Given the description of an element on the screen output the (x, y) to click on. 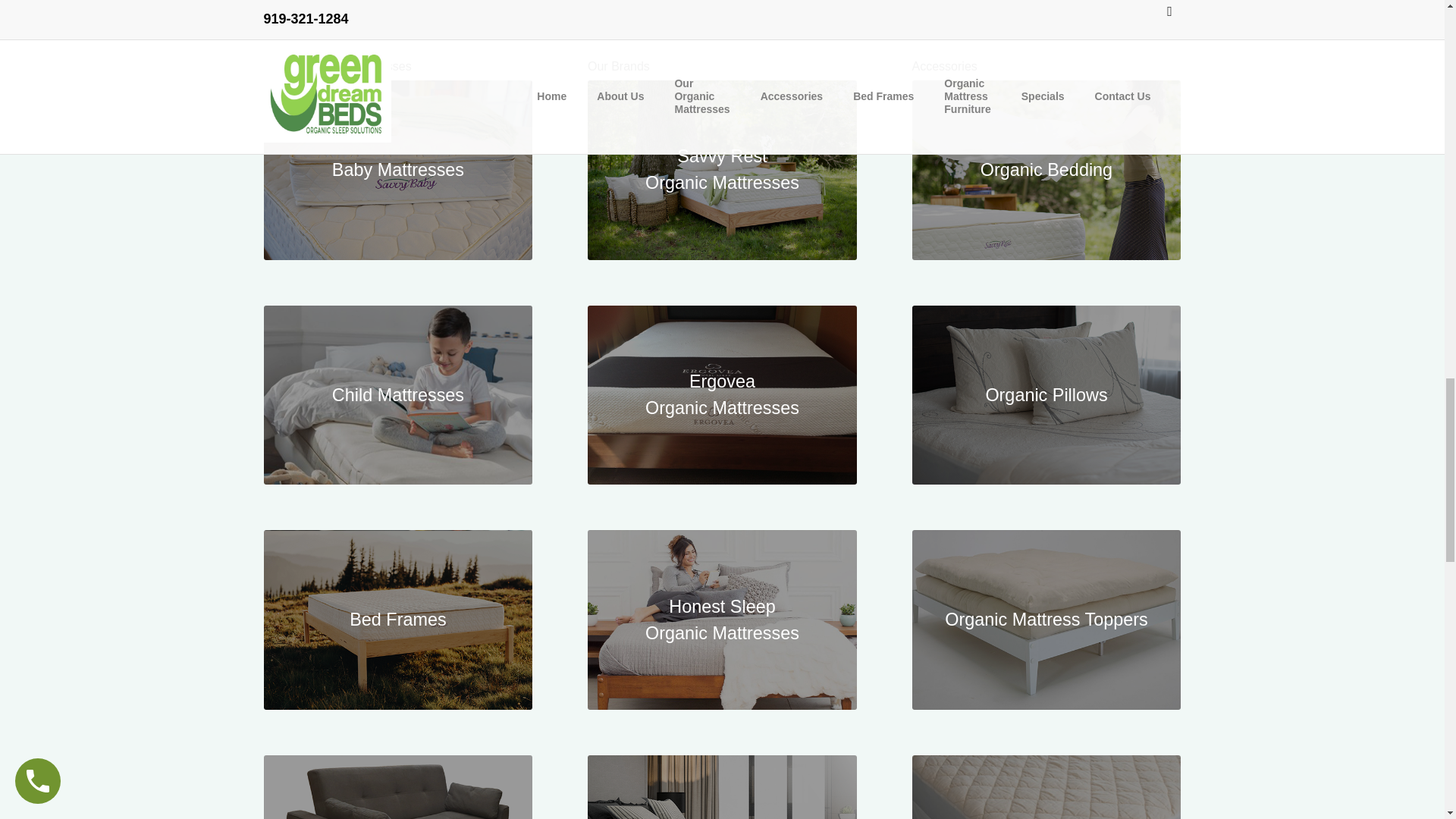
Savvy Rest (722, 170)
Ergovea (722, 395)
Honest Sleep (722, 619)
Organic Baby Mattress (397, 170)
Organic Kid Mattress (397, 395)
Suite Sleep (722, 787)
